Given the description of an element on the screen output the (x, y) to click on. 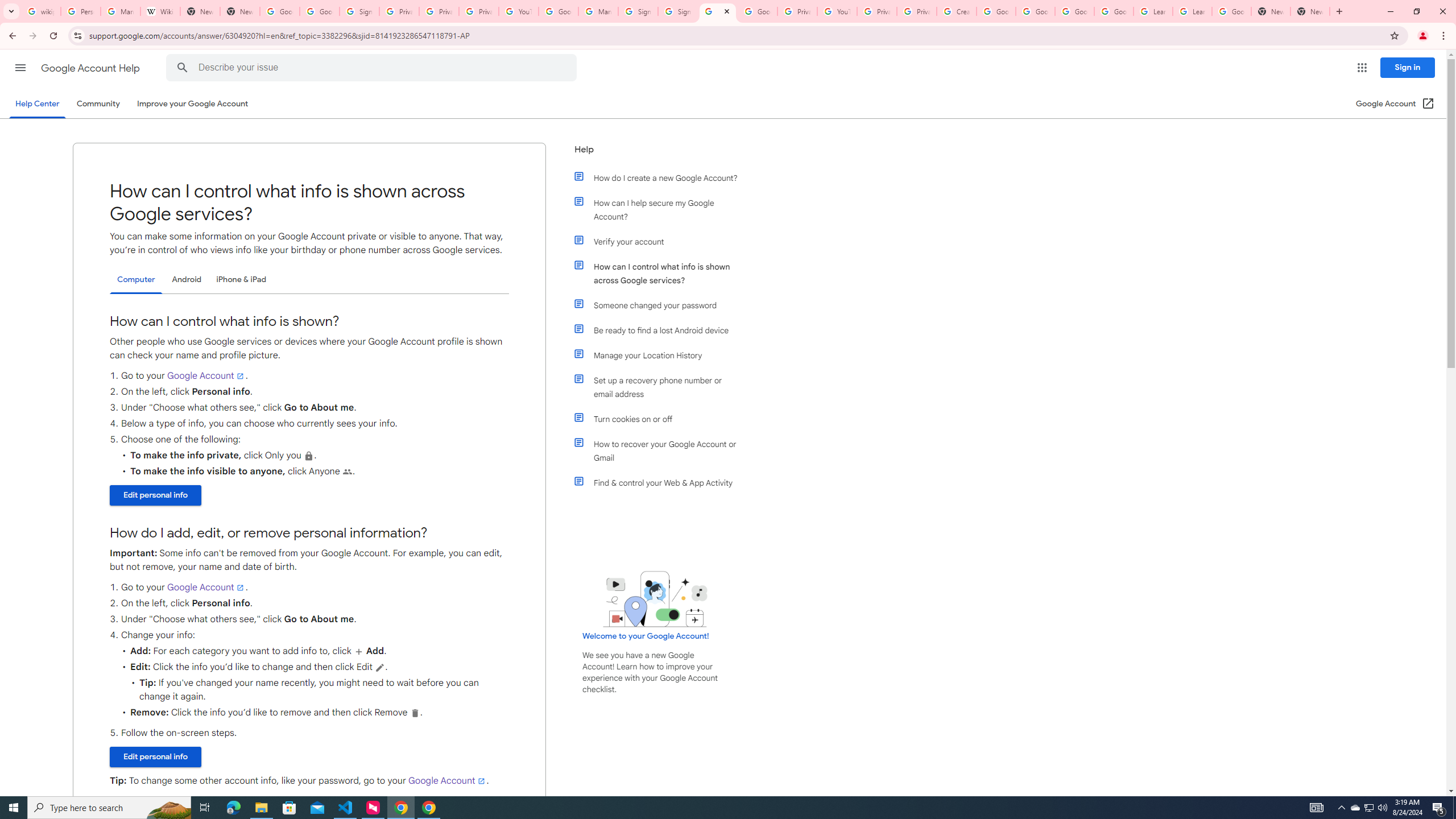
Welcome to your Google Account! (645, 635)
Google Account (Open in a new window) (1395, 103)
iPhone & iPad (240, 279)
Turn cookies on or off (661, 419)
Manage your Location History - Google Search Help (120, 11)
How can I help secure my Google Account? (661, 209)
Improve your Google Account (192, 103)
Sign in - Google Accounts (637, 11)
Verify your account (661, 241)
